Given the description of an element on the screen output the (x, y) to click on. 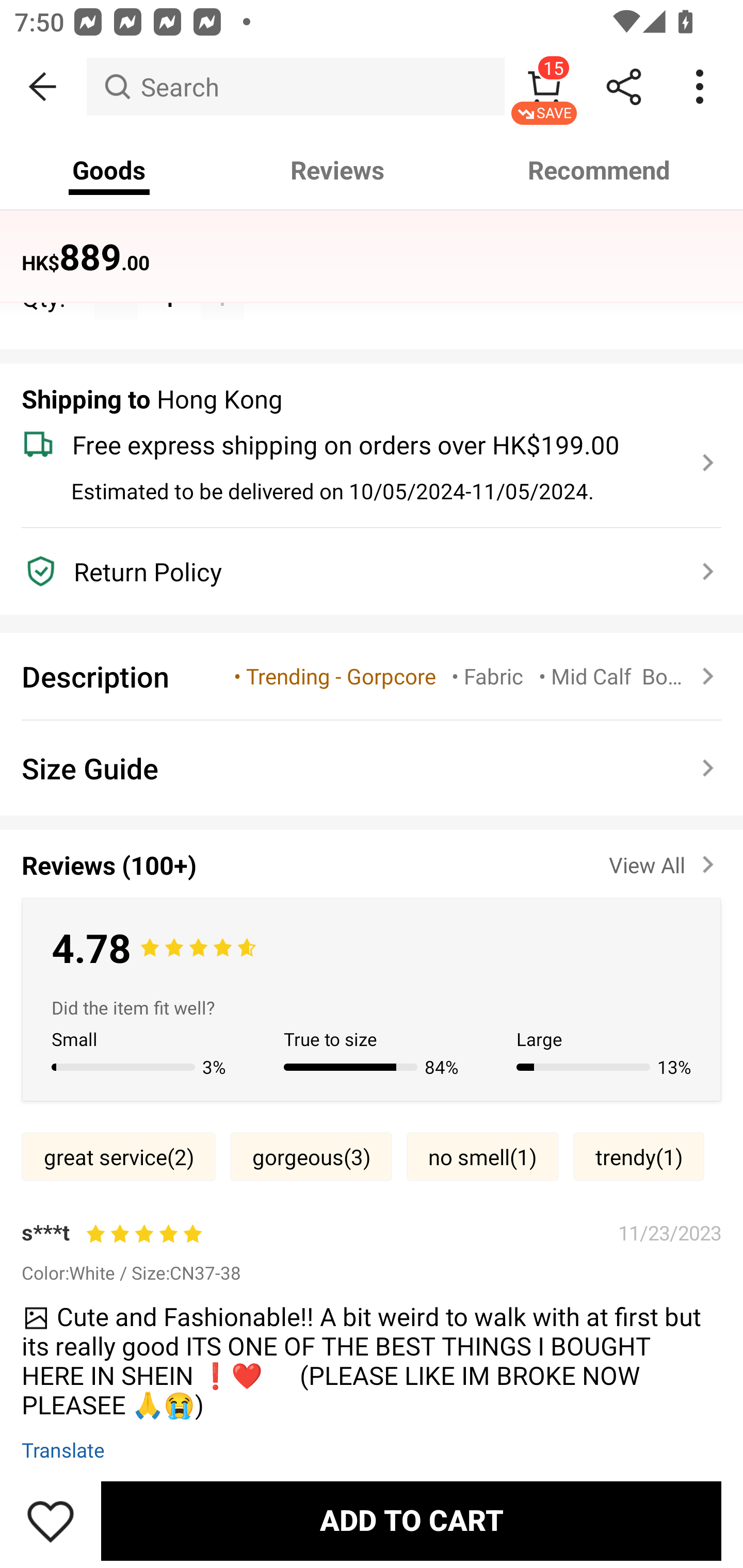
BACK (43, 86)
15 SAVE (543, 87)
Search (295, 87)
Goods (109, 170)
Reviews (337, 170)
Recommend (599, 170)
Qty: 1 (371, 275)
Return Policy (359, 571)
Size Guide (371, 768)
View All (664, 861)
great service(2) (118, 1156)
gorgeous(3) (311, 1156)
no smell(1) (482, 1156)
trendy(1) (638, 1156)
Translate (62, 1449)
ADD TO CART (411, 1520)
Save (50, 1520)
